Given the description of an element on the screen output the (x, y) to click on. 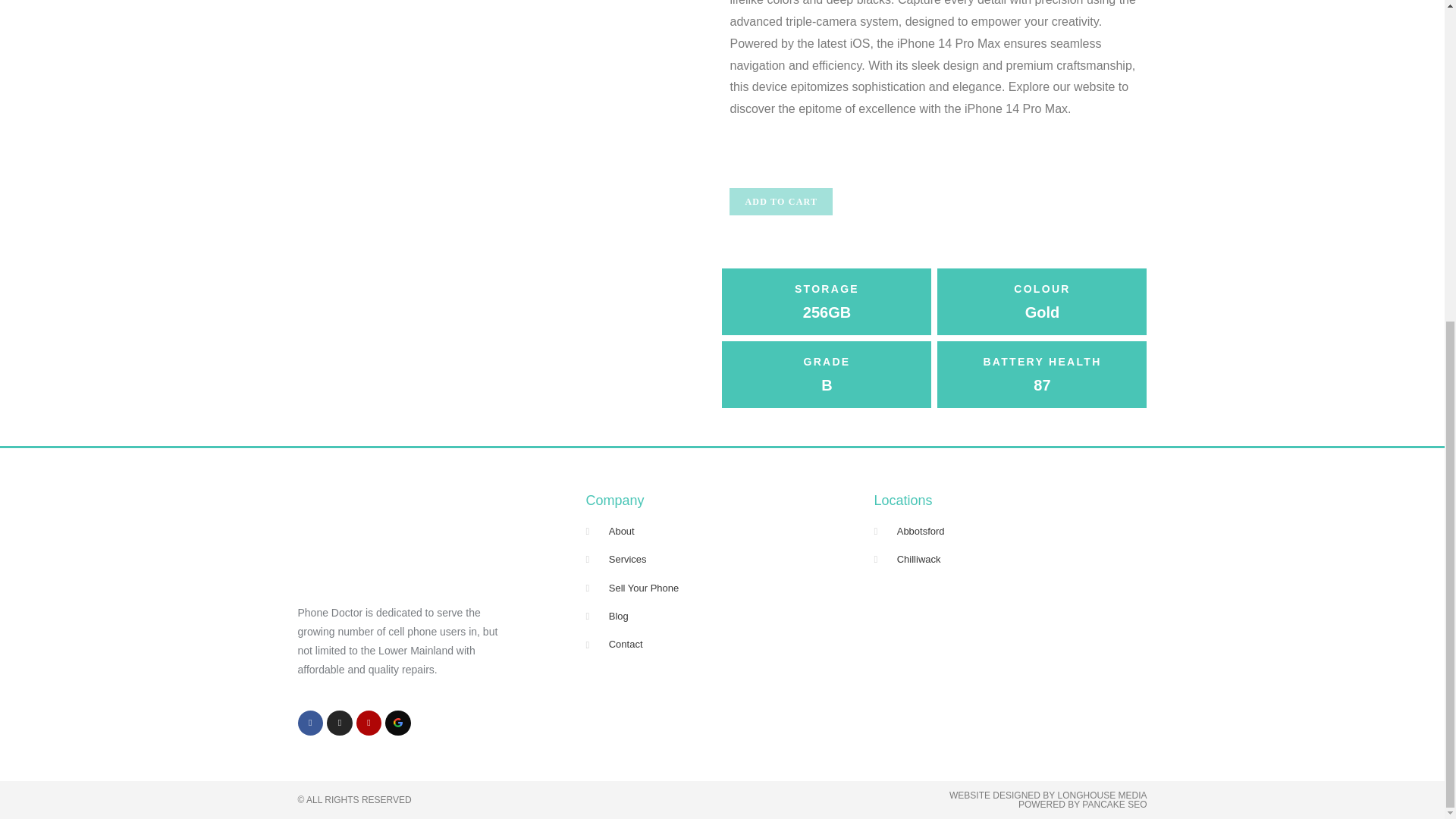
LONGHOUSE MEDIA (1102, 795)
Chilliwack (1010, 559)
ADD TO CART (780, 201)
Sell Your Phone (722, 588)
Services (722, 559)
Contact (722, 643)
PANCAKE SEO (1114, 804)
About (722, 530)
